Given the description of an element on the screen output the (x, y) to click on. 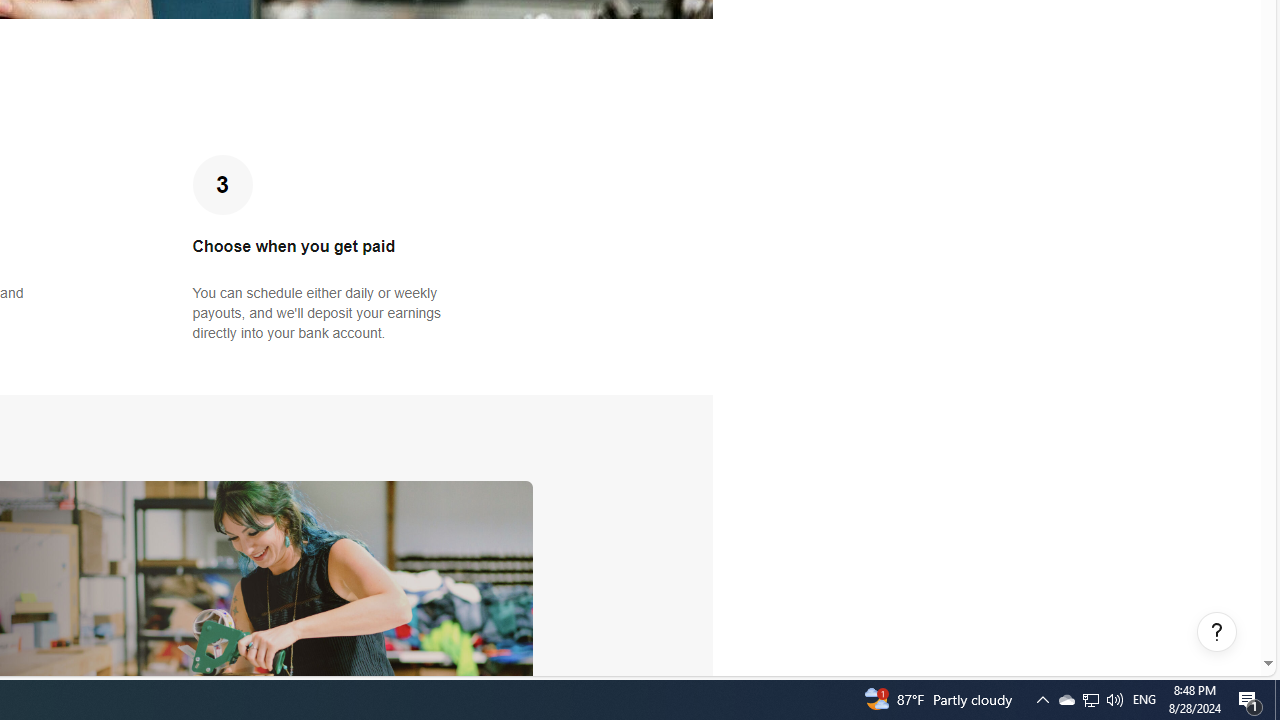
Help, opens dialogs (1217, 632)
